Given the description of an element on the screen output the (x, y) to click on. 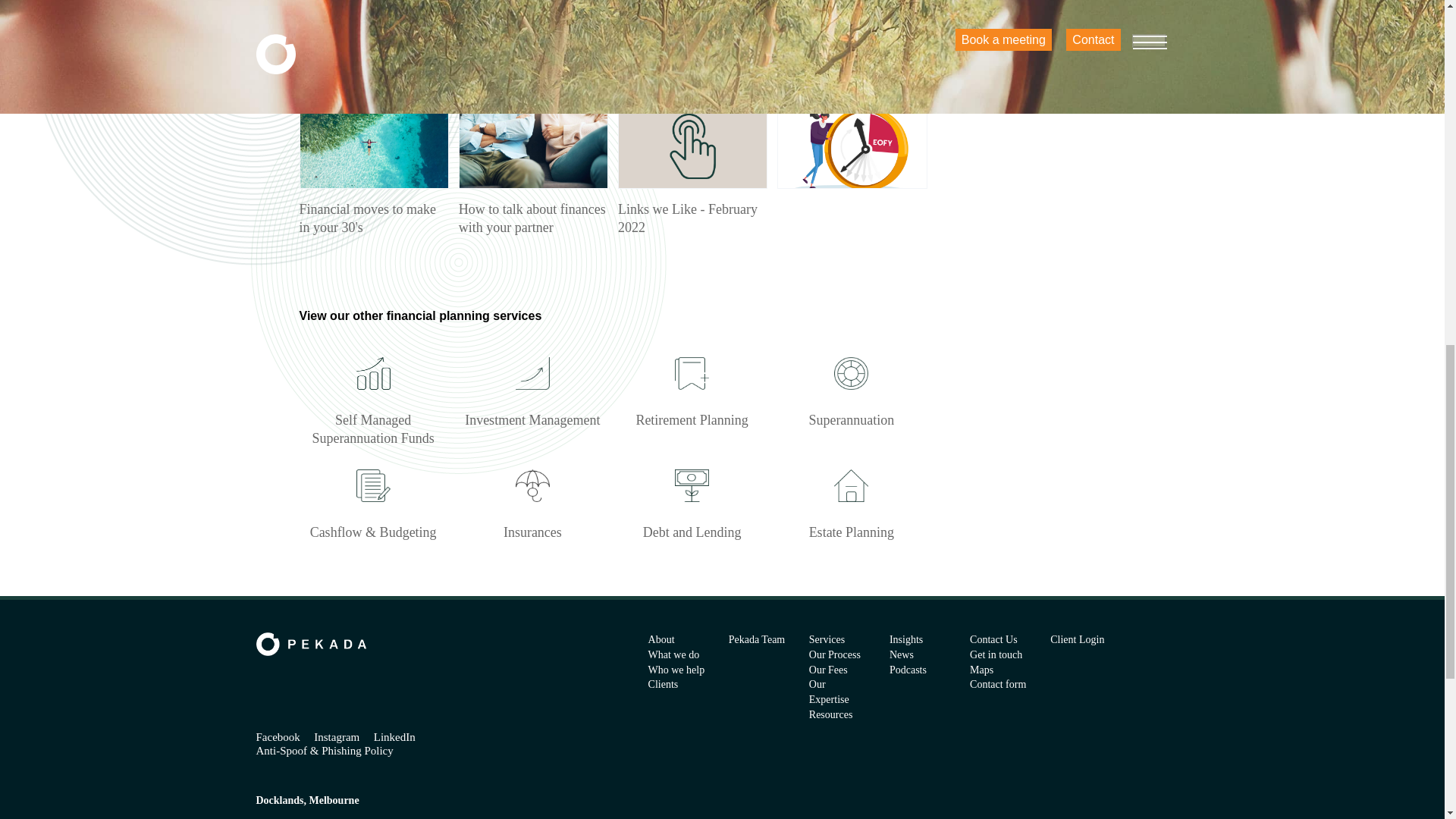
Investment Management (532, 387)
Estate Planning (850, 499)
Financial moves to make in your 30's (372, 170)
Links we Like - February 2022 (691, 170)
Insurances (532, 499)
Debt and Lending (691, 499)
Superannuation (850, 387)
View all (322, 89)
Retirement Planning (691, 387)
Self Managed Superannuation Funds (372, 396)
How to talk about finances with your partner (532, 170)
